Given the description of an element on the screen output the (x, y) to click on. 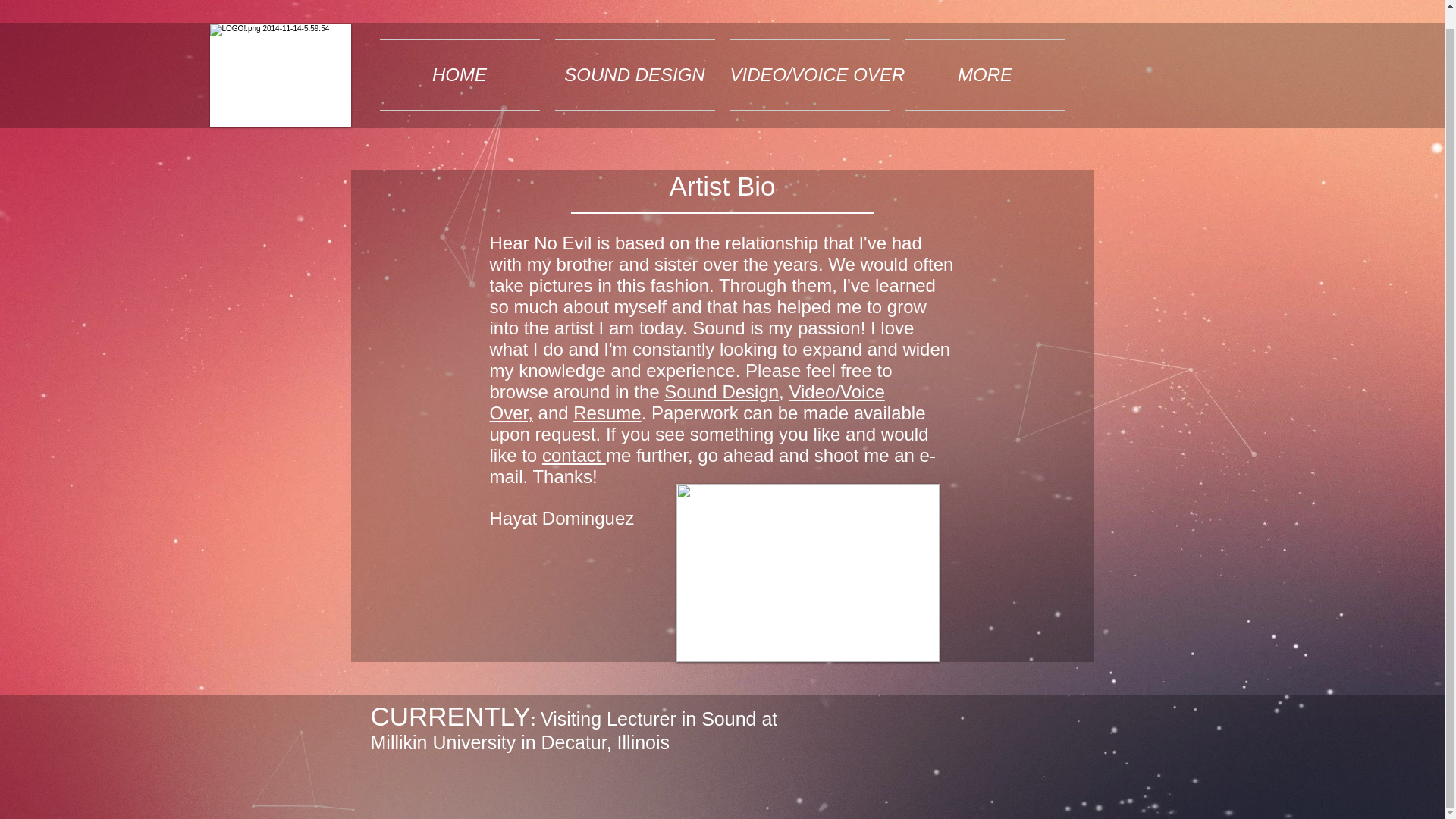
Sound Design (720, 391)
contact (573, 455)
Resume (606, 412)
SOUND DESIGN (634, 74)
LOGO!.png 2014-11-14-5:59:54 (279, 75)
HOME (459, 74)
